Given the description of an element on the screen output the (x, y) to click on. 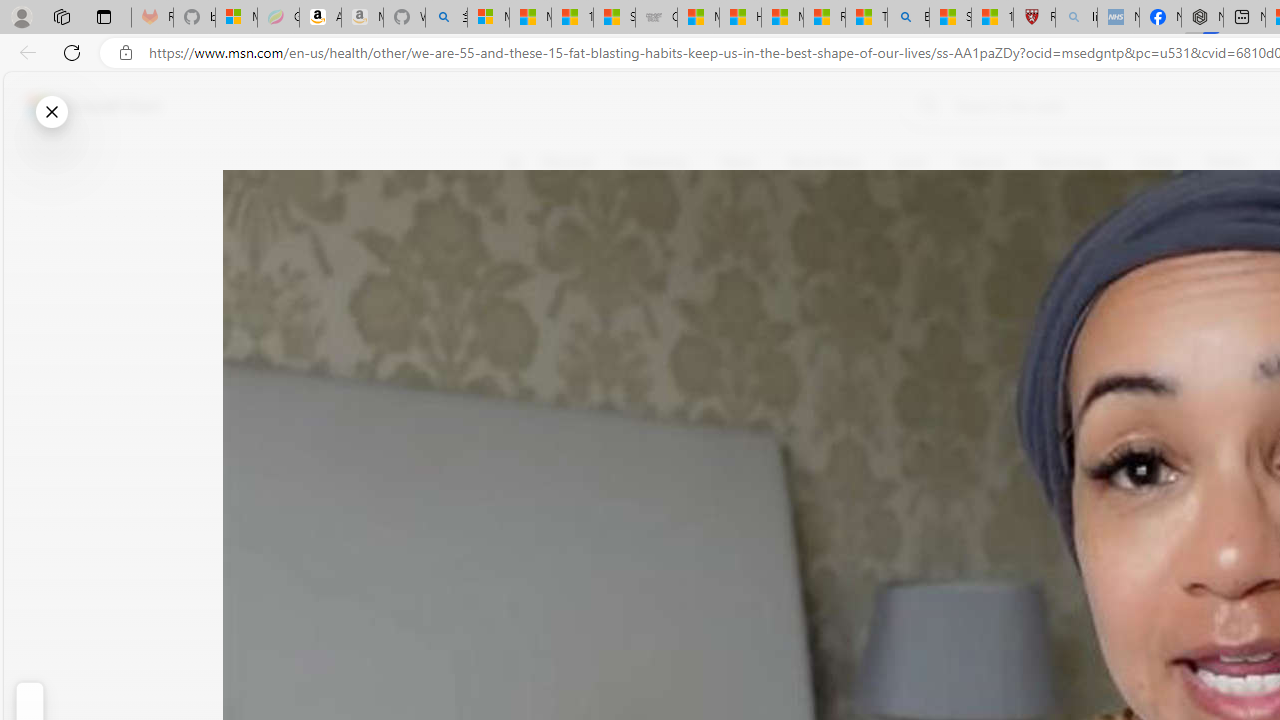
Local (909, 162)
Technology (1071, 162)
Body Network (788, 259)
Follow (909, 258)
6 (525, 300)
How I Got Rid of Microsoft Edge's Unnecessary Features (740, 17)
Politics (1228, 162)
12 Popular Science Lies that Must be Corrected (991, 17)
6 Like (525, 244)
Skip to footer (82, 105)
Recipes - MSN (823, 17)
